Given the description of an element on the screen output the (x, y) to click on. 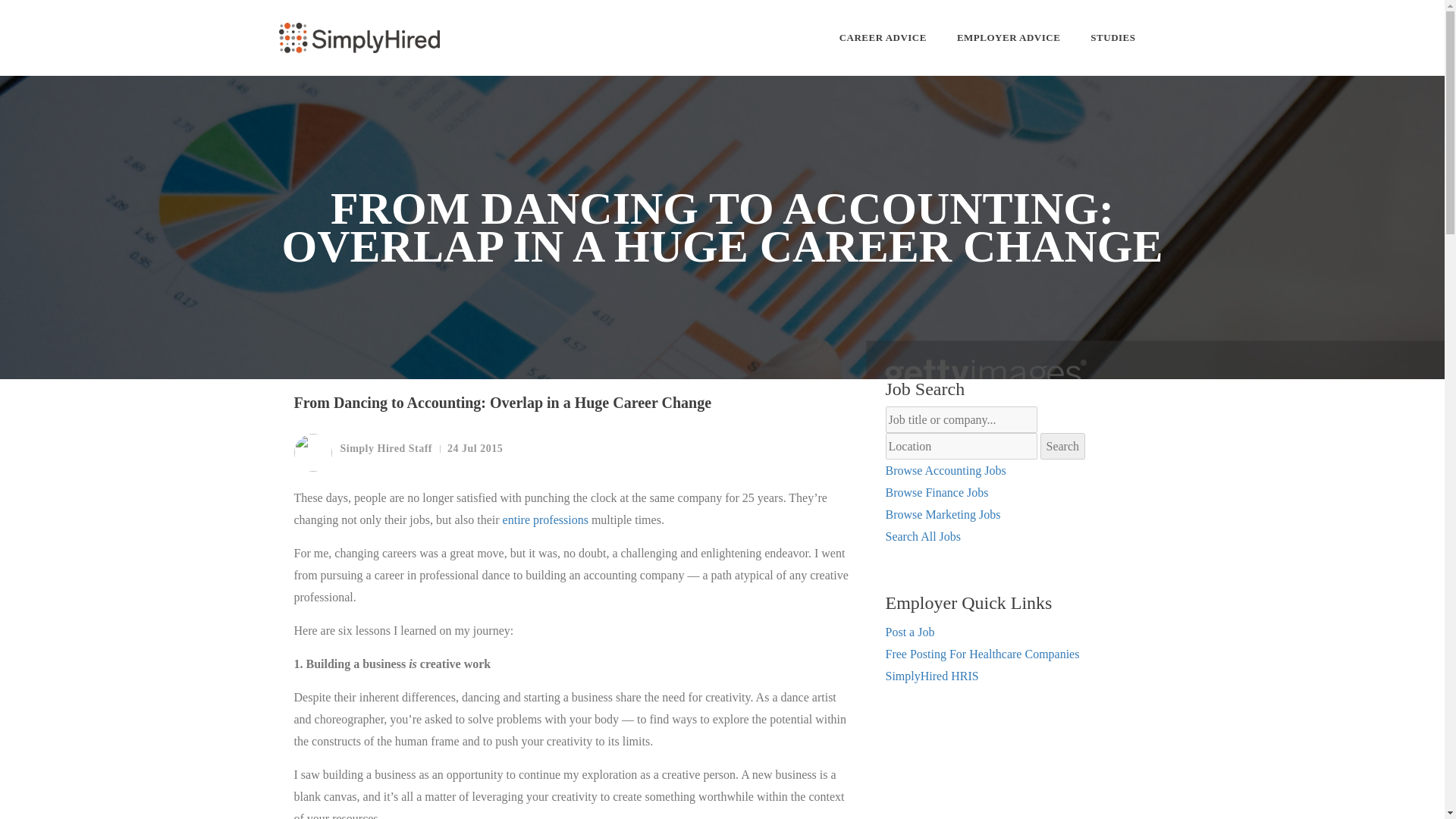
CAREER ADVICE (883, 38)
entire professions (545, 519)
Post a Job (909, 631)
Search (1063, 446)
Search All Jobs (922, 535)
EMPLOYER ADVICE (1007, 38)
Free Posting For Healthcare Companies (982, 653)
SimplyHired HRIS (931, 675)
Search (1063, 446)
Browse Finance Jobs (936, 492)
